Given the description of an element on the screen output the (x, y) to click on. 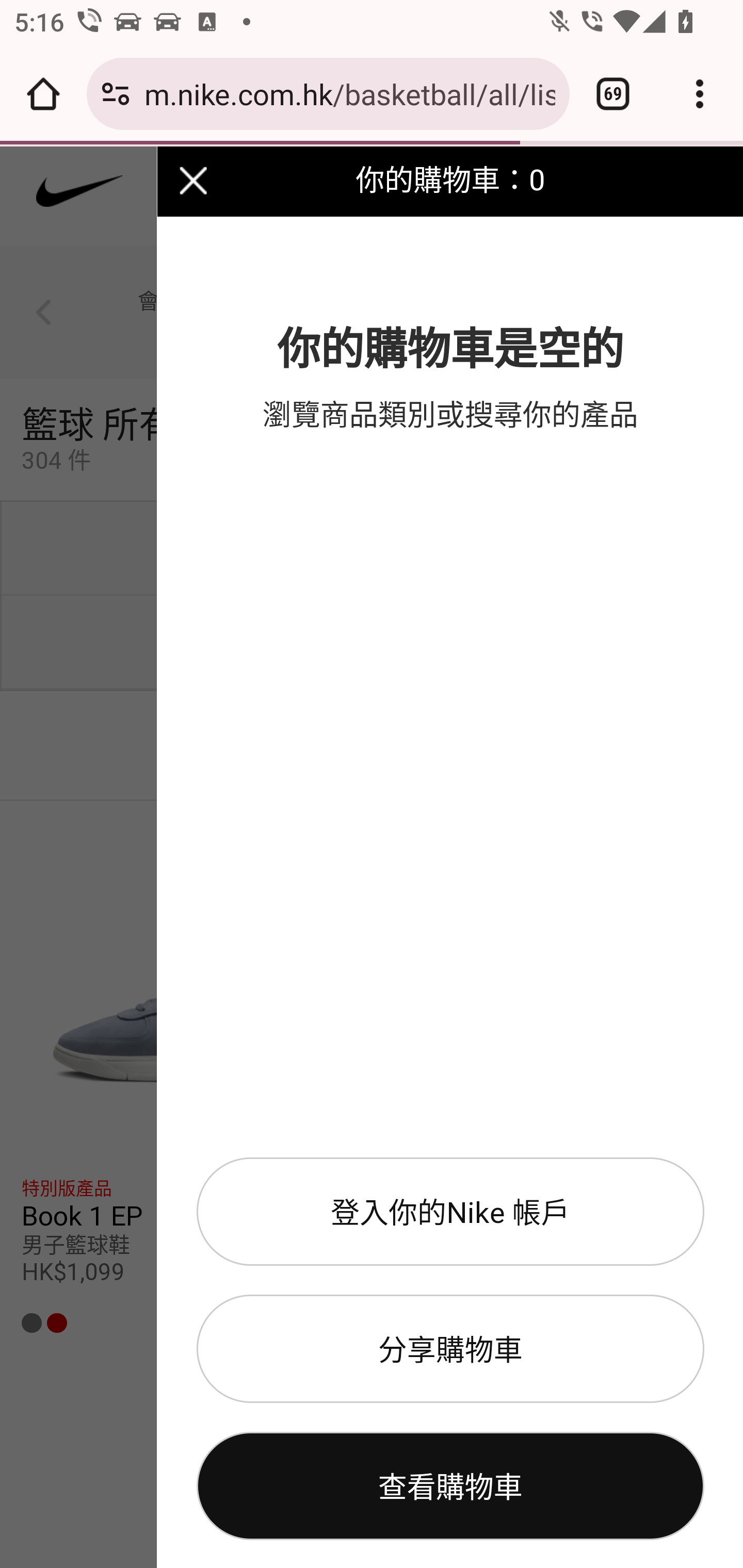
Open the home page (43, 93)
Connection is secure (115, 93)
Switch or close tabs (612, 93)
Customize and control Google Chrome (699, 93)
